Given the description of an element on the screen output the (x, y) to click on. 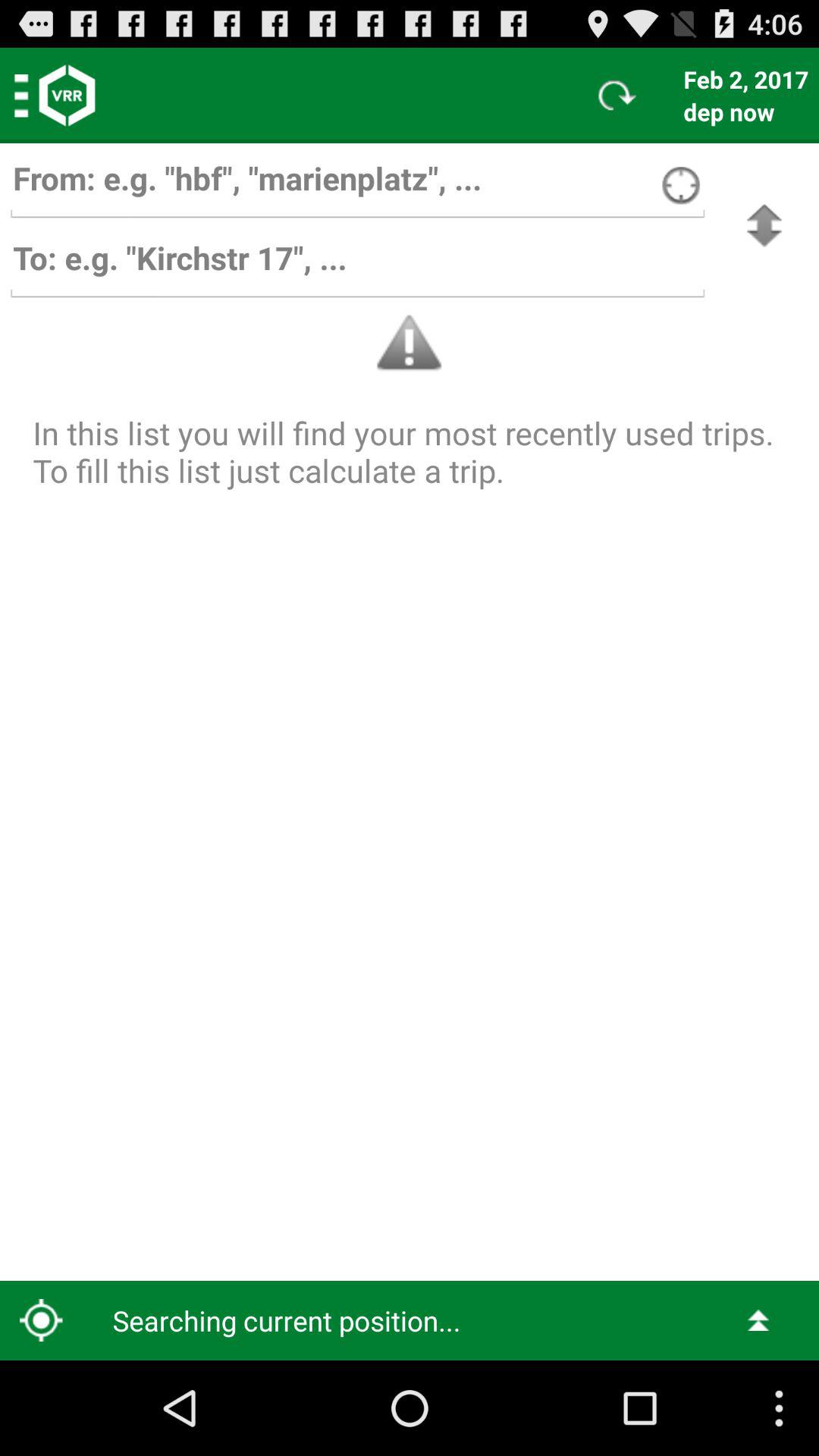
type bar from (357, 185)
